Given the description of an element on the screen output the (x, y) to click on. 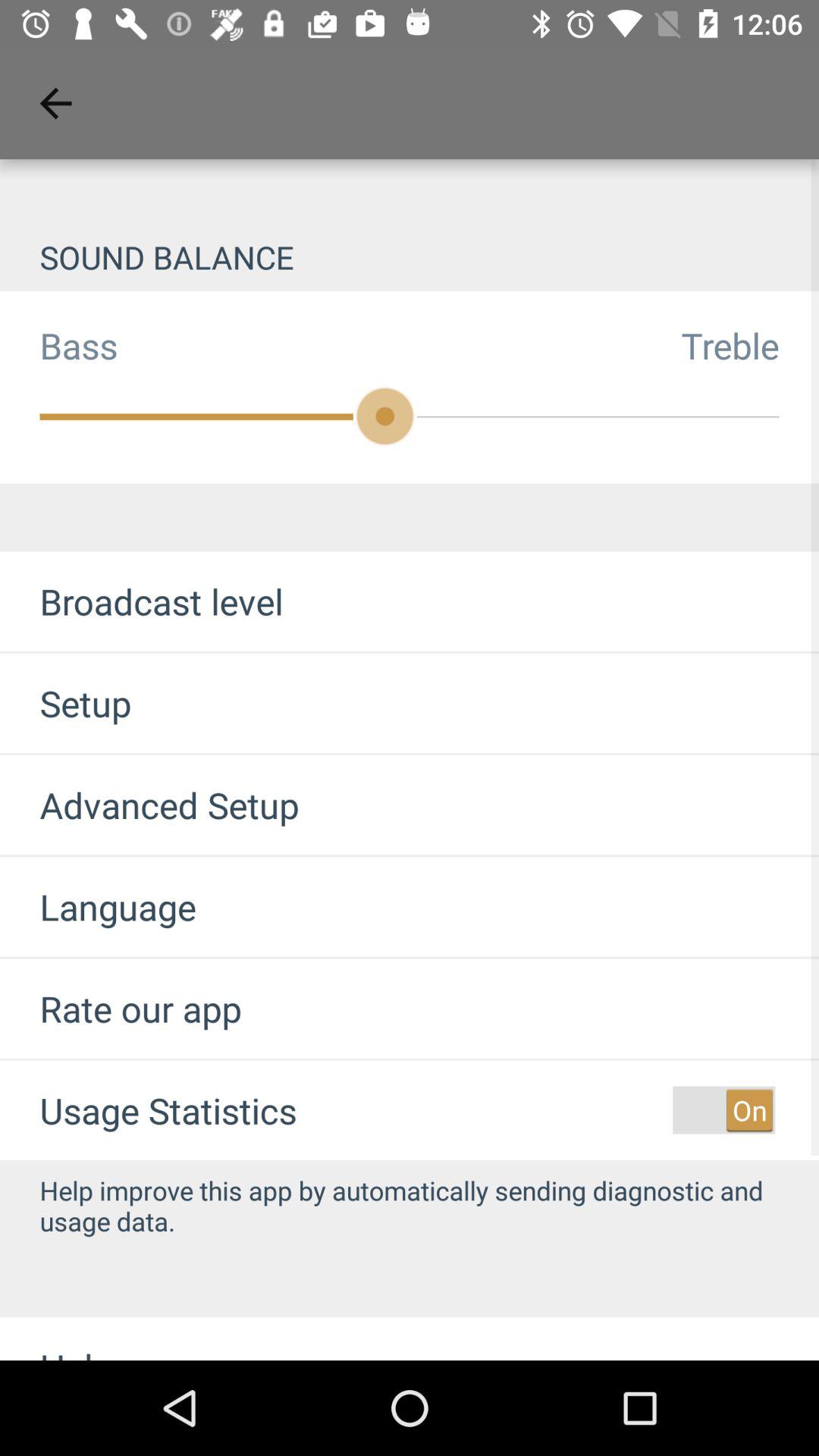
tap the item at the top right corner (750, 345)
